Given the description of an element on the screen output the (x, y) to click on. 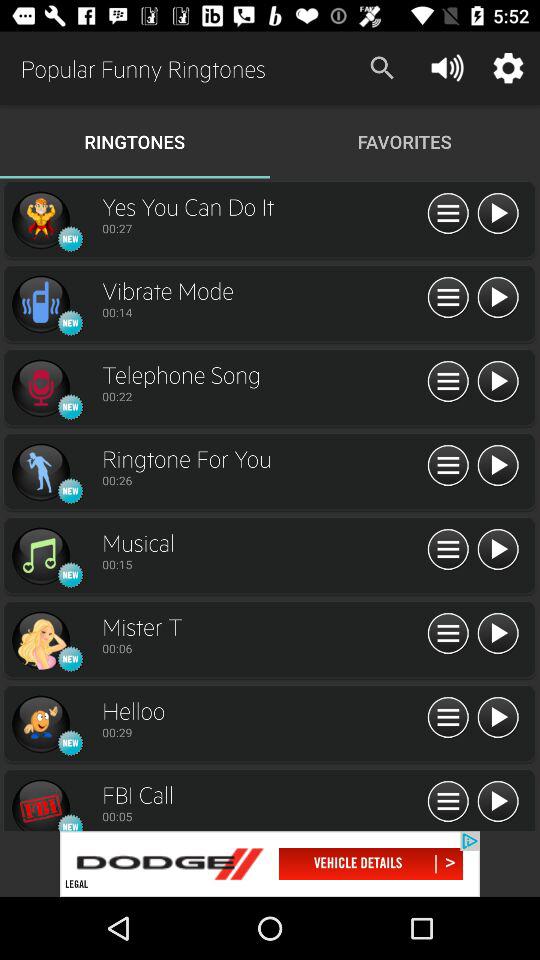
info about musical ringtones (447, 549)
